Given the description of an element on the screen output the (x, y) to click on. 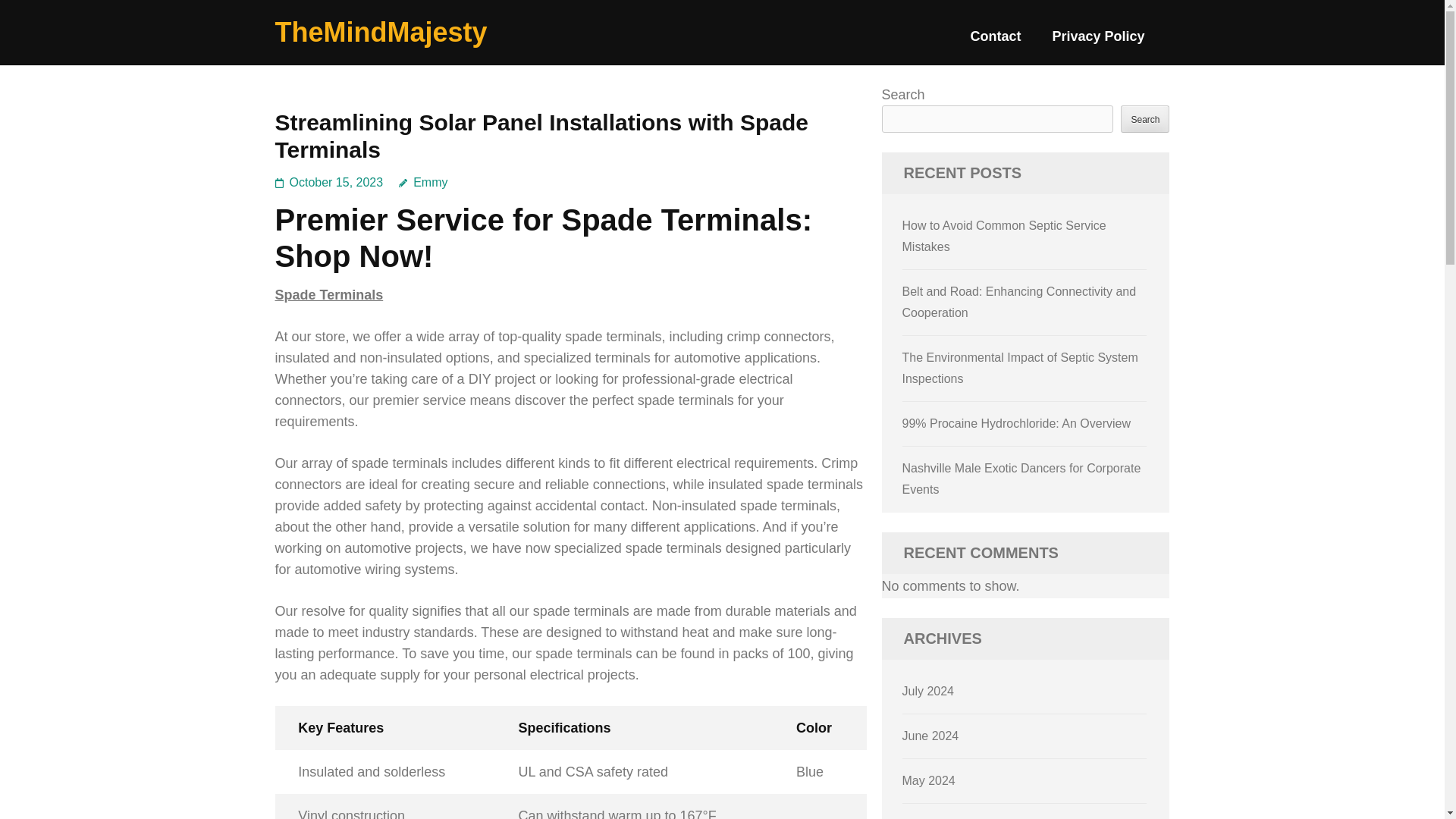
The Environmental Impact of Septic System Inspections (1020, 367)
Nashville Male Exotic Dancers for Corporate Events (1021, 478)
Emmy (422, 182)
How to Avoid Common Septic Service Mistakes (1004, 236)
Spade Terminals (328, 294)
May 2024 (928, 780)
Search (1145, 118)
Belt and Road: Enhancing Connectivity and Cooperation (1019, 302)
Privacy Policy (1097, 42)
June 2024 (930, 735)
October 15, 2023 (336, 182)
TheMindMajesty (380, 31)
Contact (994, 42)
July 2024 (928, 690)
